Given the description of an element on the screen output the (x, y) to click on. 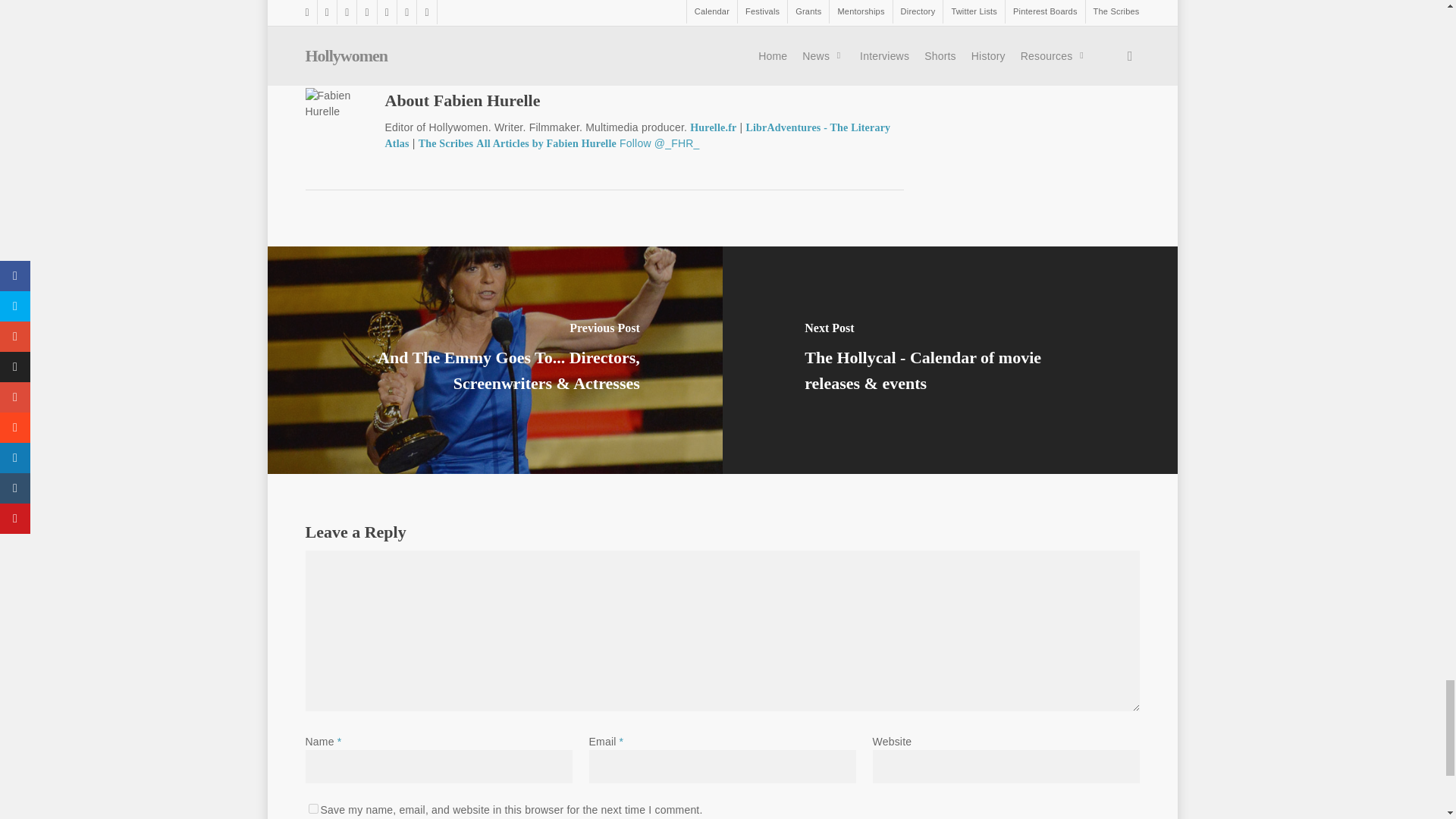
yes (312, 808)
